Given the description of an element on the screen output the (x, y) to click on. 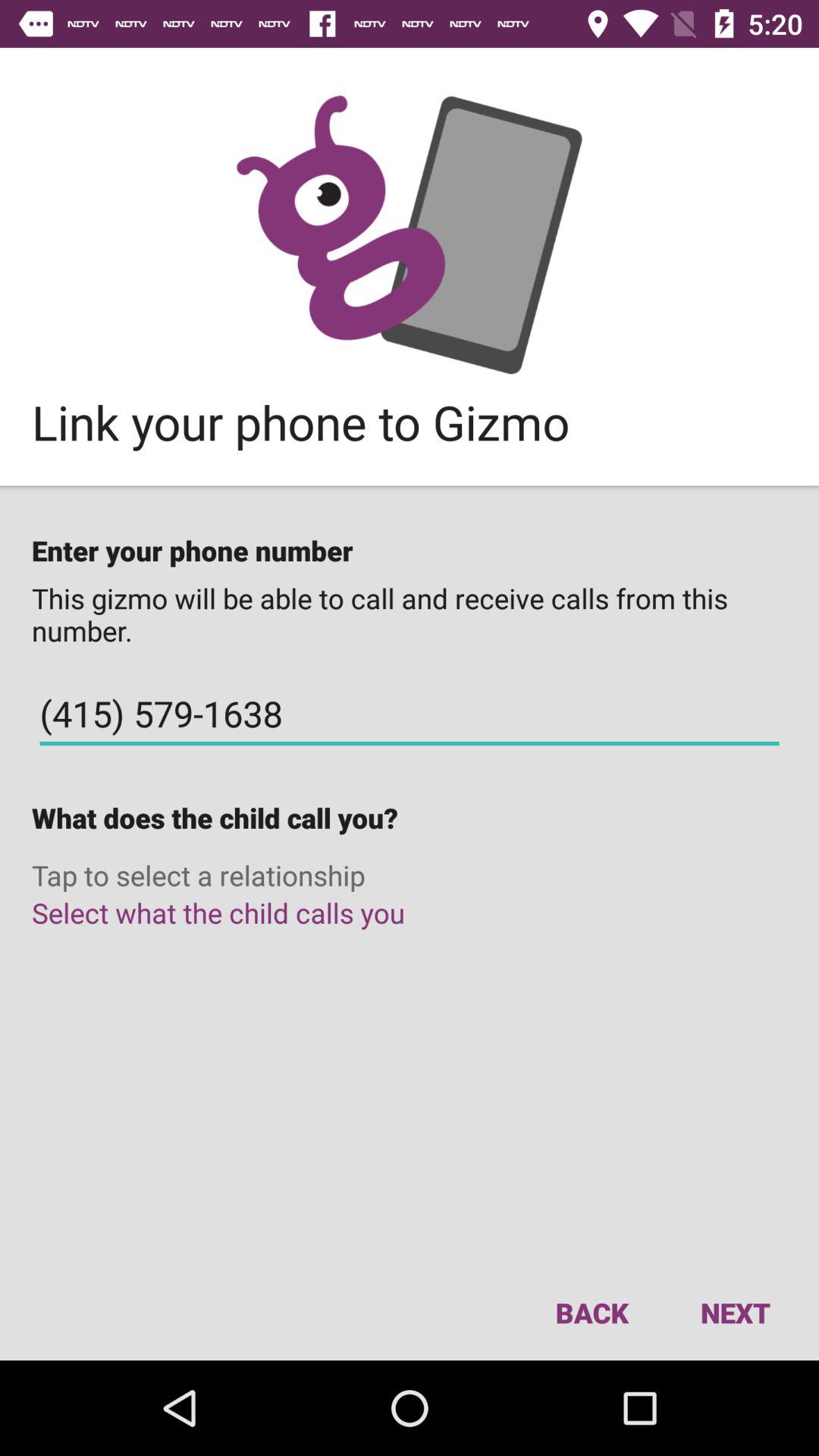
select the (415) 579-1638 (409, 714)
